Given the description of an element on the screen output the (x, y) to click on. 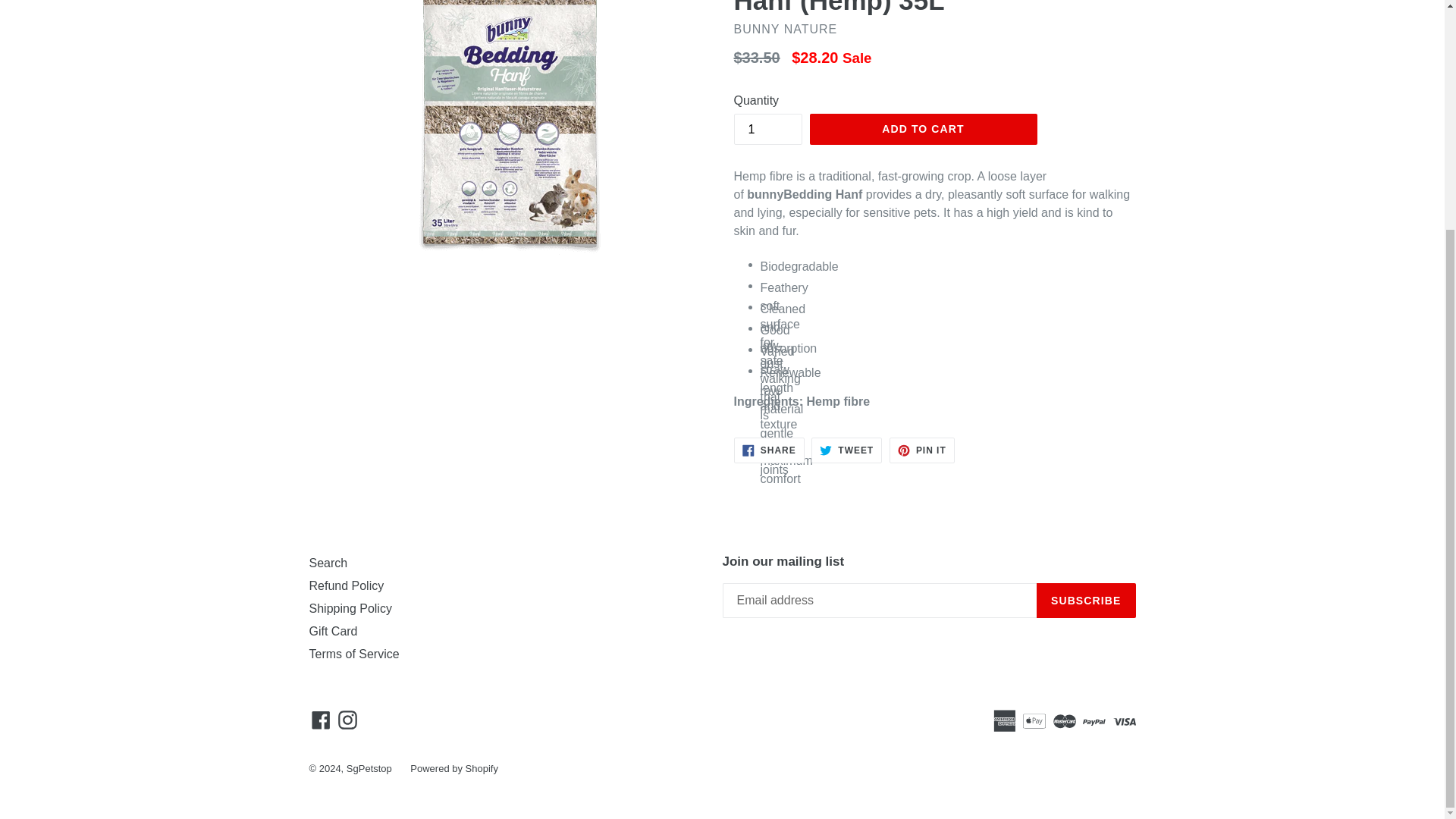
Gift Card (333, 631)
Shipping Policy (349, 608)
ADD TO CART (922, 450)
Terms of Service (922, 129)
Share on Facebook (353, 653)
SUBSCRIBE (769, 450)
1 (846, 450)
Search (1085, 600)
